Given the description of an element on the screen output the (x, y) to click on. 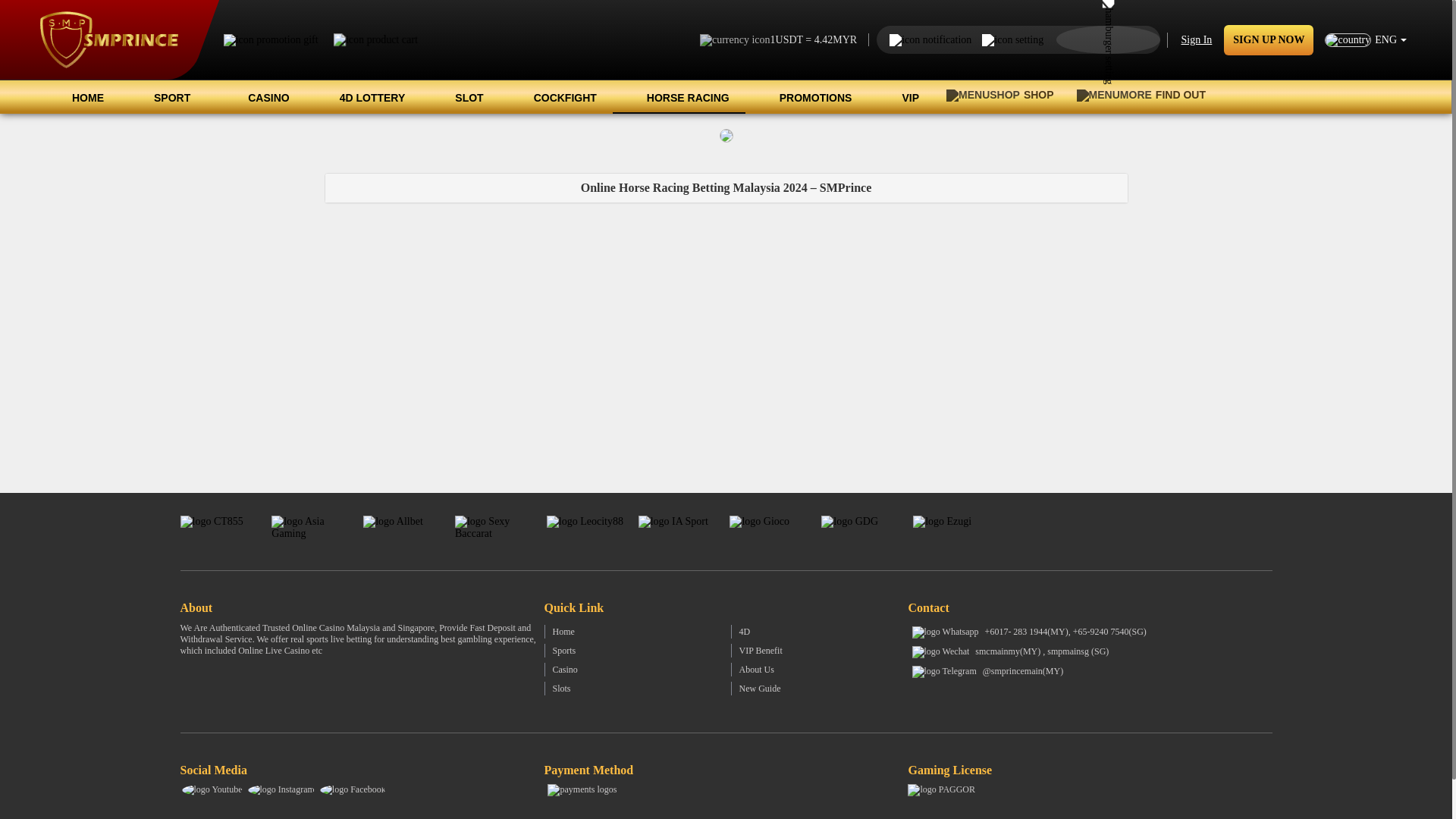
SHOP (999, 95)
COCKFIGHT (555, 96)
SLOT (459, 96)
VIP (900, 96)
PROMOTIONS (806, 96)
FIND OUT (1144, 95)
ENG (1365, 40)
Sign In (1196, 39)
CASINO (259, 96)
HOME (78, 96)
4D LOTTERY (363, 96)
HORSE RACING (678, 96)
SIGN UP NOW (1268, 39)
SPORT (166, 96)
